Given the description of an element on the screen output the (x, y) to click on. 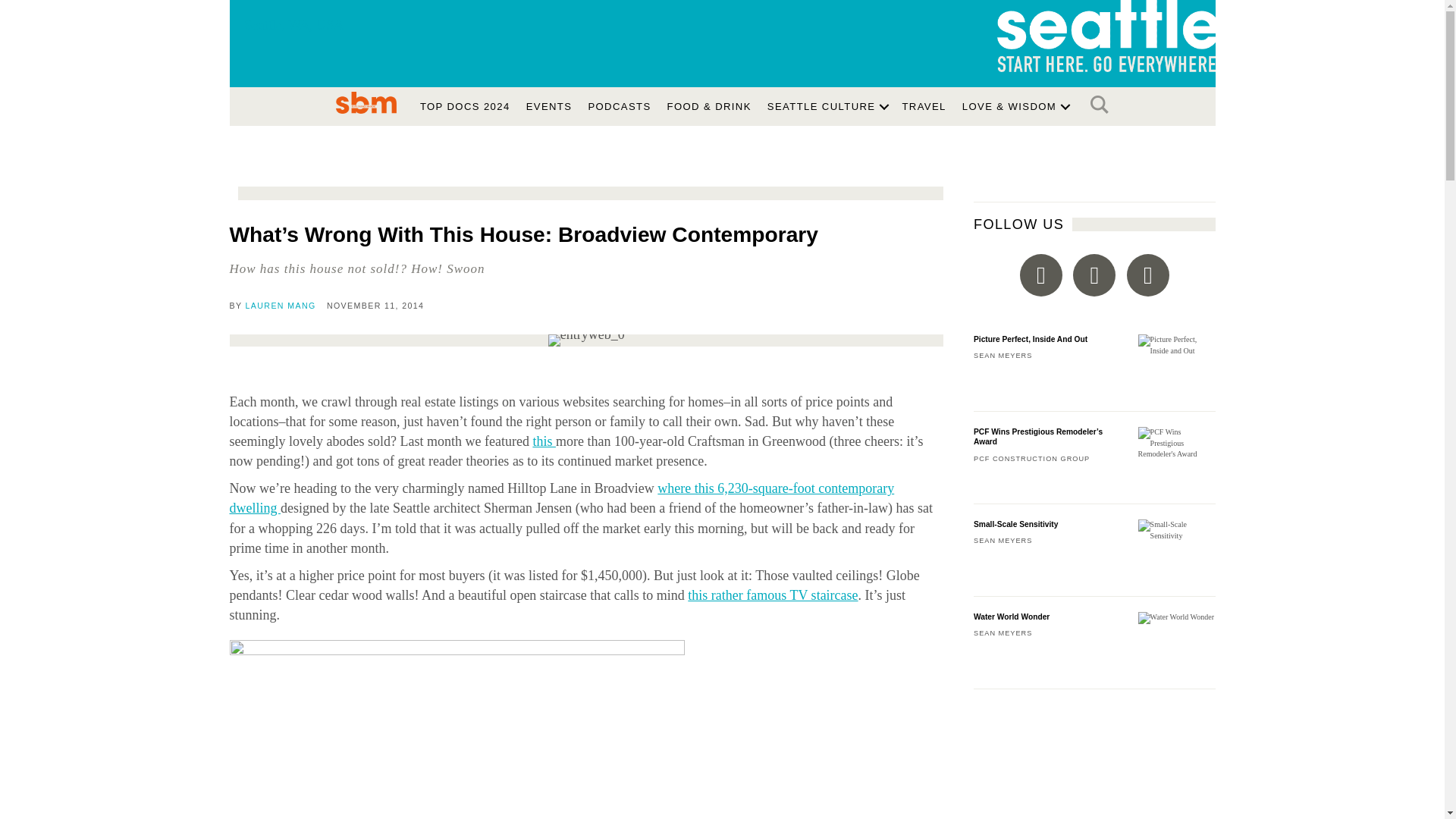
Water World Wonder (1176, 617)
TOP DOCS 2024 (465, 106)
Small-Scale Sensitivity (1094, 558)
PCF Wins Prestigious Remodeler's Award (1176, 443)
PODCASTS (618, 106)
seattle-with-tagline-min (1104, 36)
Small-Scale Sensitivity (1176, 530)
Picture Perfect, Inside and Out (1094, 372)
Seattle, WA, USA (333, 37)
EVENTS (548, 106)
SBM (366, 102)
Water World Wonder (1094, 650)
SEATTLE CULTURE (826, 106)
Picture Perfect, Inside and Out (1176, 345)
TRAVEL (923, 106)
